Given the description of an element on the screen output the (x, y) to click on. 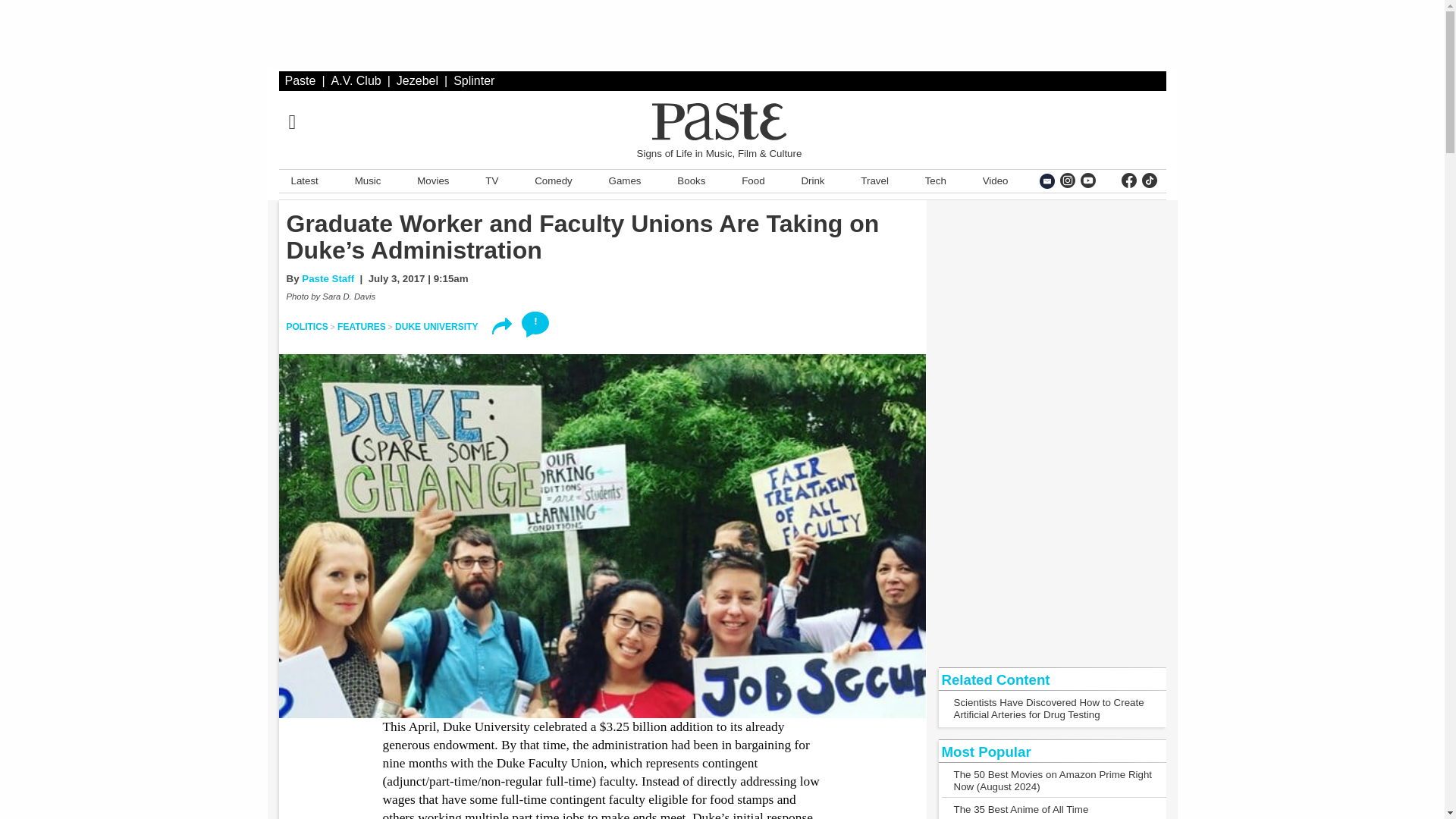
TV (491, 180)
Games (624, 180)
Paste (300, 80)
Drink (811, 180)
Books (691, 180)
Comedy (553, 180)
A.V. Club (356, 80)
Movies (432, 180)
Food (752, 180)
Splinter (473, 80)
